Given the description of an element on the screen output the (x, y) to click on. 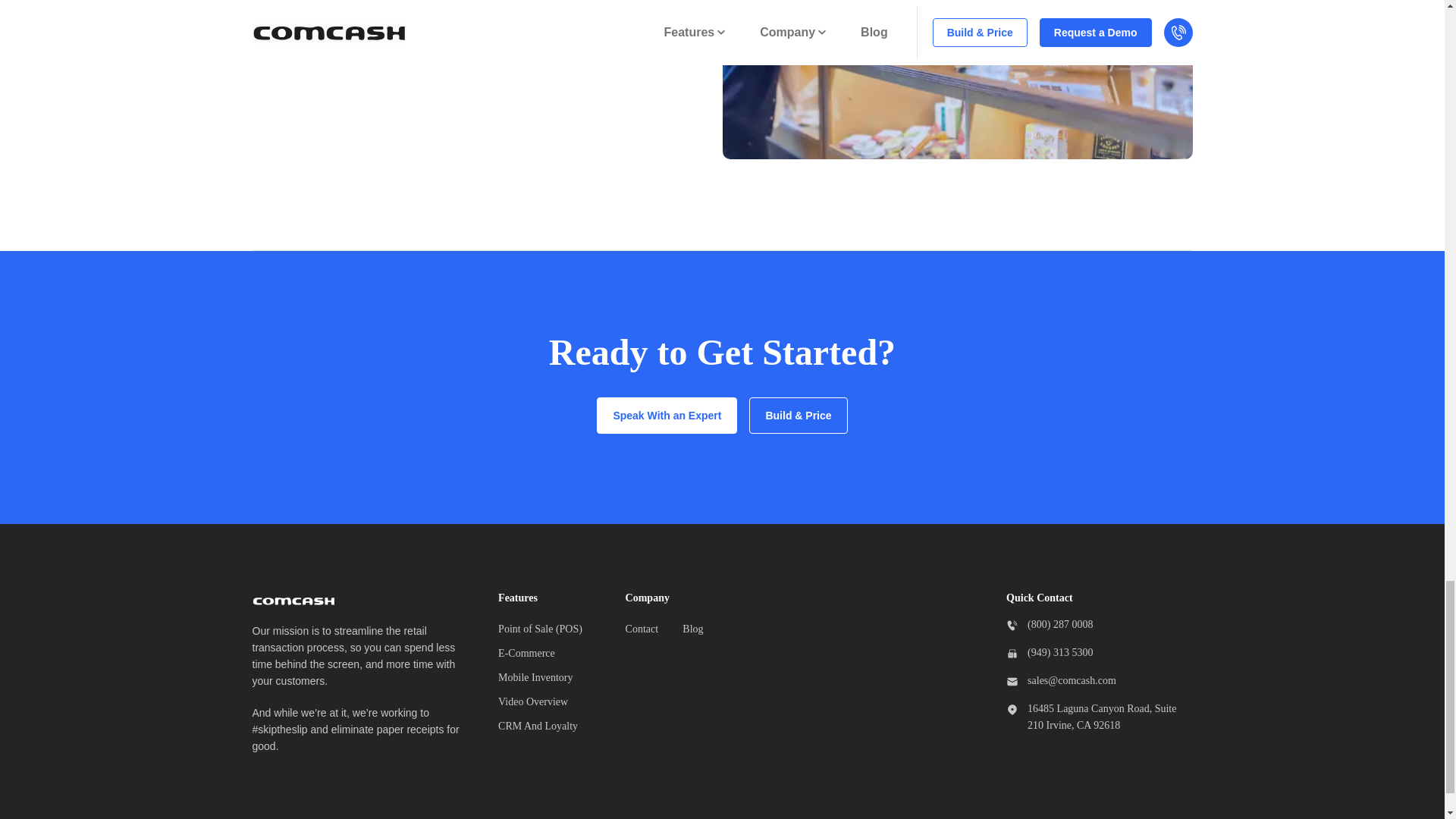
Speak With an Expert (666, 415)
Video Overview (532, 702)
Company (678, 598)
E-Commerce (525, 653)
CRM And Loyalty (537, 726)
Contact (642, 629)
Mobile Inventory (534, 677)
Features (549, 598)
